Given the description of an element on the screen output the (x, y) to click on. 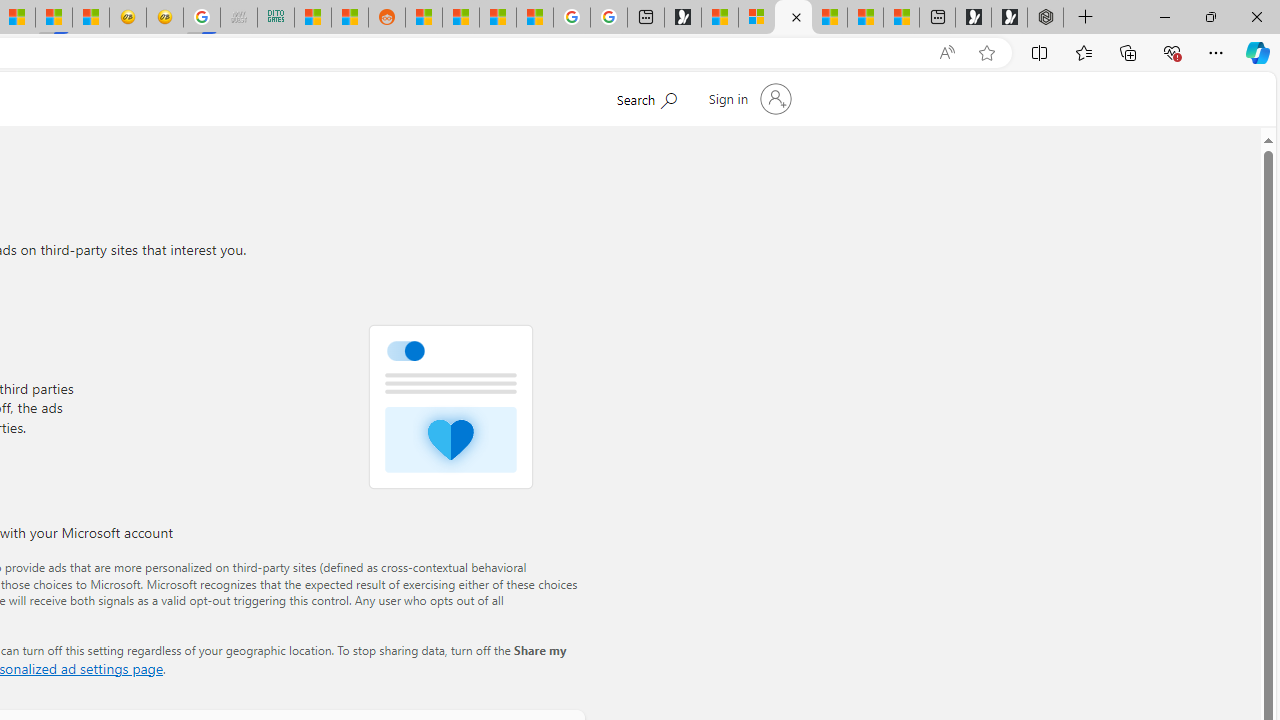
DITOGAMES AG Imprint (276, 17)
